Given the description of an element on the screen output the (x, y) to click on. 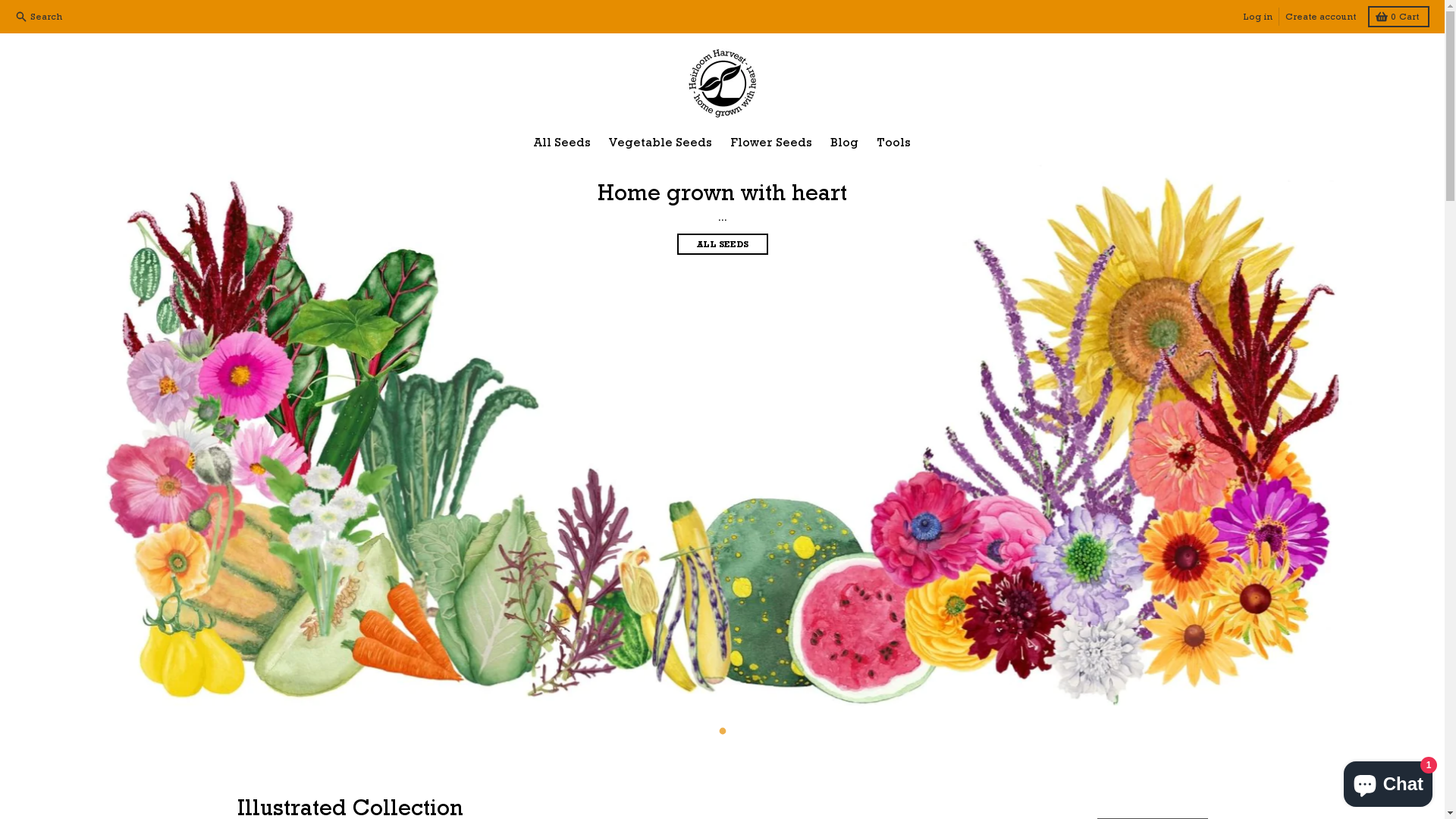
Search Element type: text (40, 16)
Blog Element type: text (844, 142)
Shopify online store chat Element type: hover (1388, 780)
All Seeds Element type: text (561, 142)
Create account Element type: text (1319, 16)
Flower Seeds Element type: text (771, 142)
0
Cart Element type: text (1398, 16)
Vegetable Seeds Element type: text (660, 142)
Tools Element type: text (893, 142)
ALL SEEDS Element type: text (721, 243)
Log in Element type: text (1257, 16)
